Given the description of an element on the screen output the (x, y) to click on. 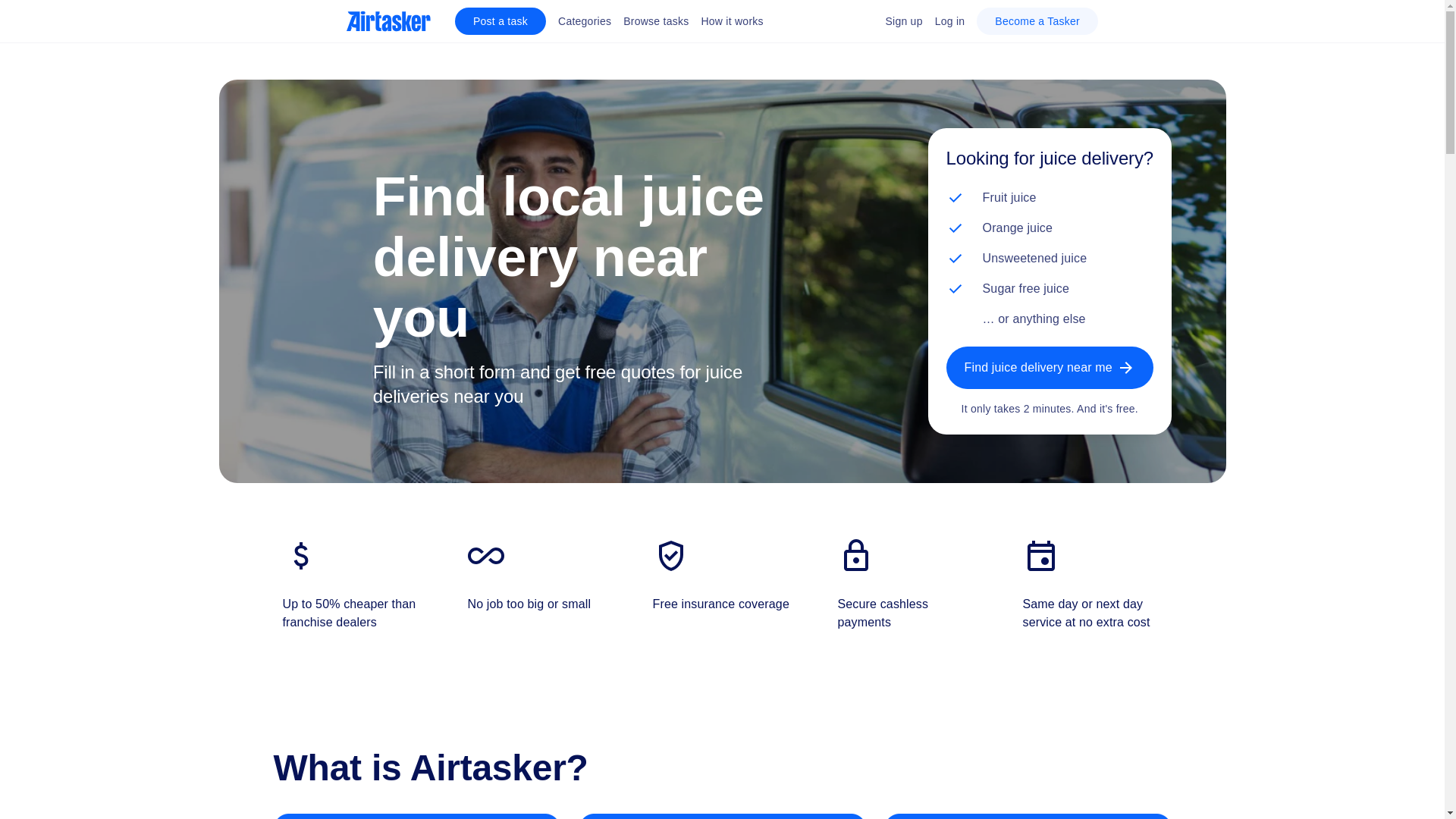
Post a task (500, 21)
Categories (584, 21)
